Given the description of an element on the screen output the (x, y) to click on. 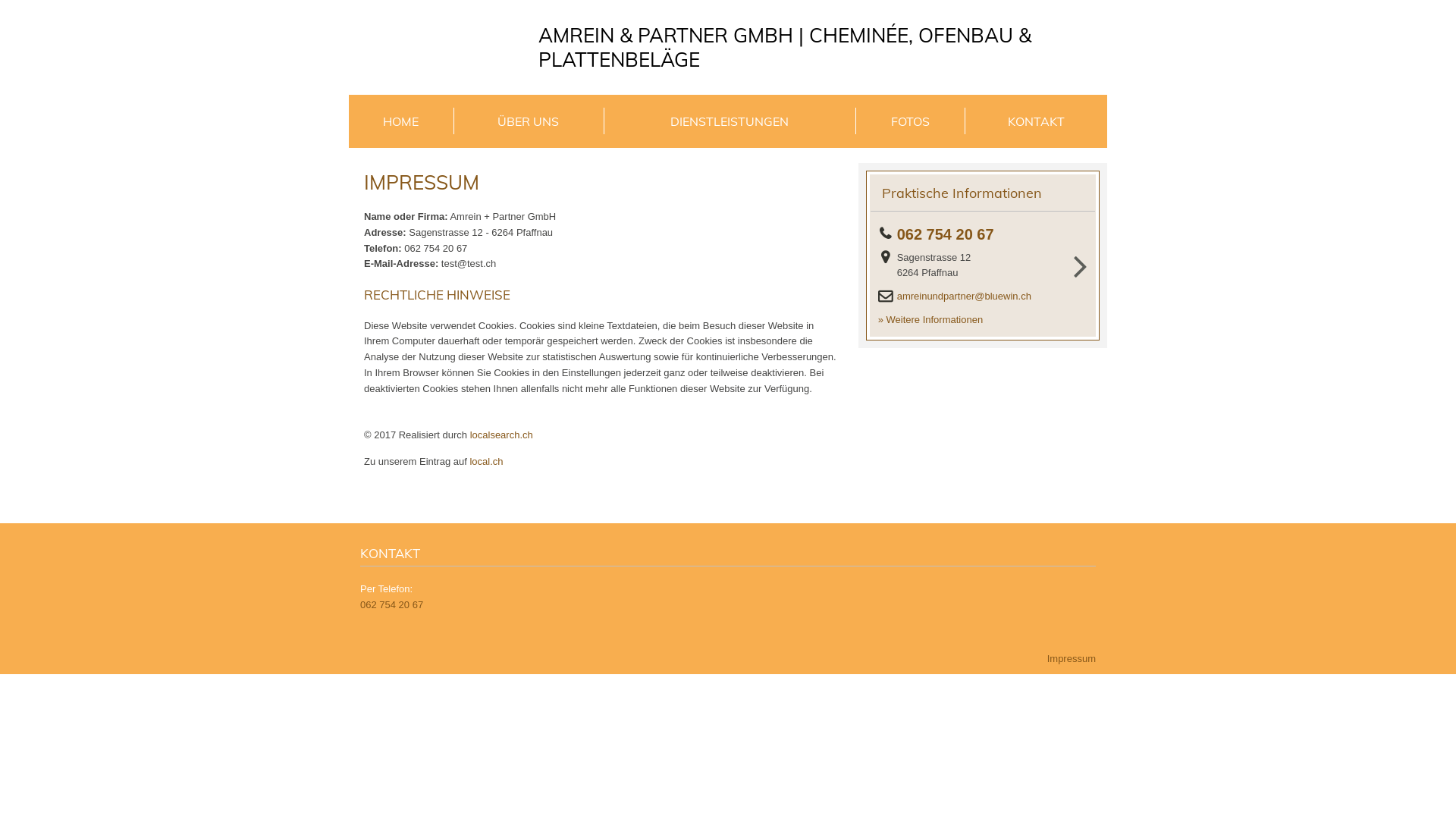
062 754 20 67 Element type: text (949, 234)
HOME Element type: text (400, 120)
localsearch.ch Element type: text (501, 434)
amreinundpartner@bluewin.ch Element type: text (968, 296)
FOTOS Element type: text (910, 120)
Impressum Element type: text (1071, 658)
DIENSTLEISTUNGEN Element type: text (729, 120)
KONTAKT Element type: text (1035, 120)
062 754 20 67 Element type: text (391, 604)
local.ch Element type: text (485, 461)
